Given the description of an element on the screen output the (x, y) to click on. 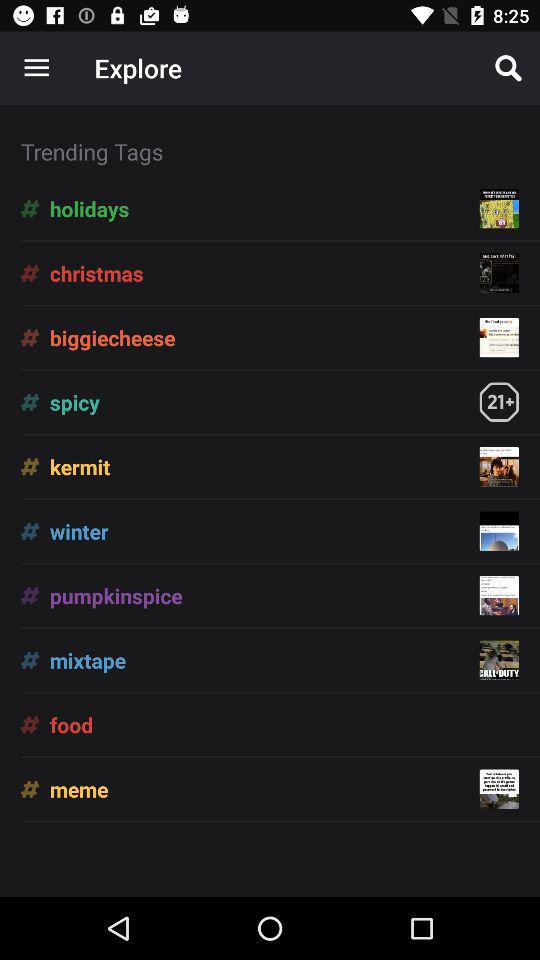
launch the item next to the explore (508, 68)
